Given the description of an element on the screen output the (x, y) to click on. 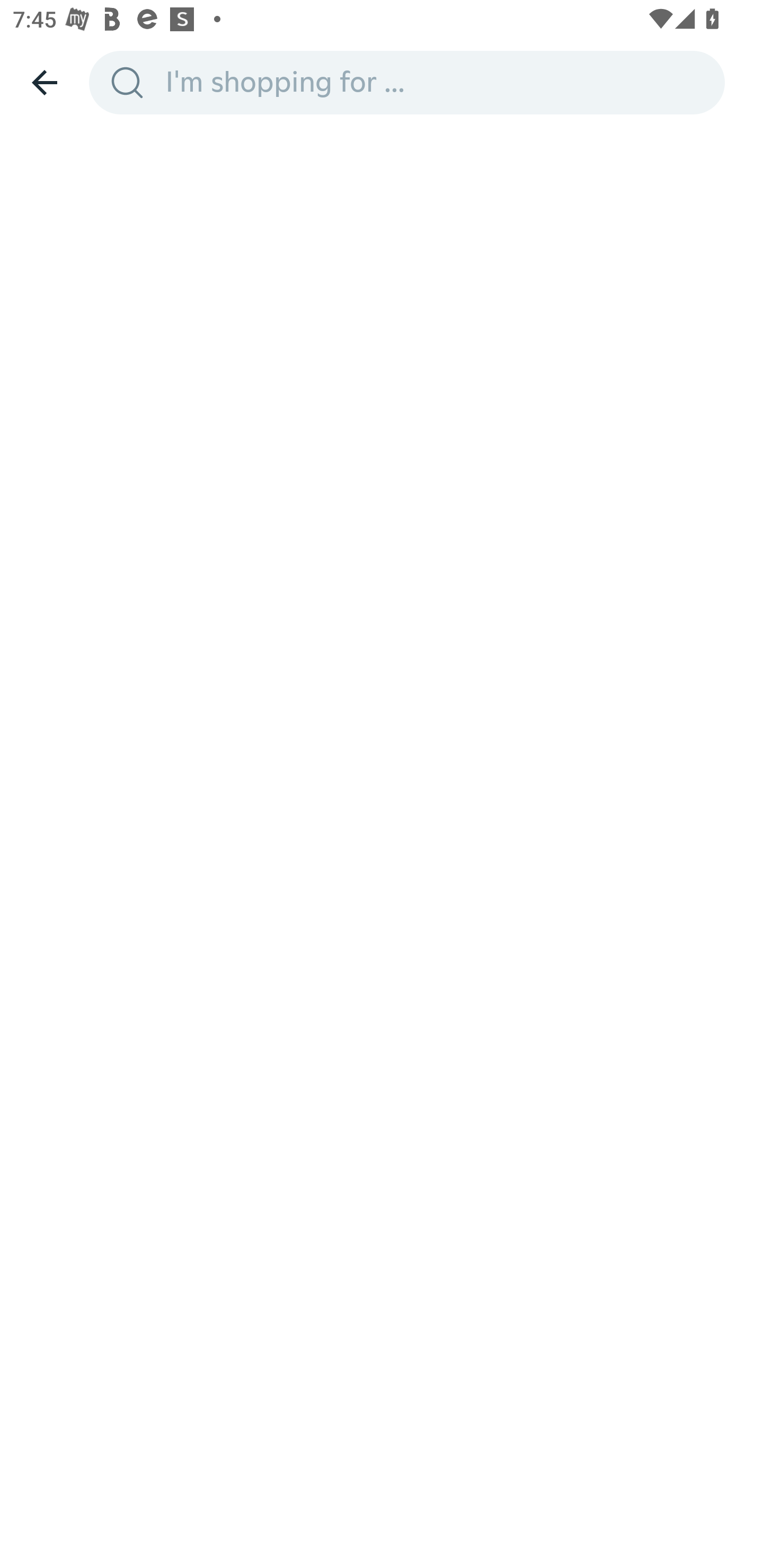
Navigate up (44, 82)
I'm shopping for ... (438, 81)
